Given the description of an element on the screen output the (x, y) to click on. 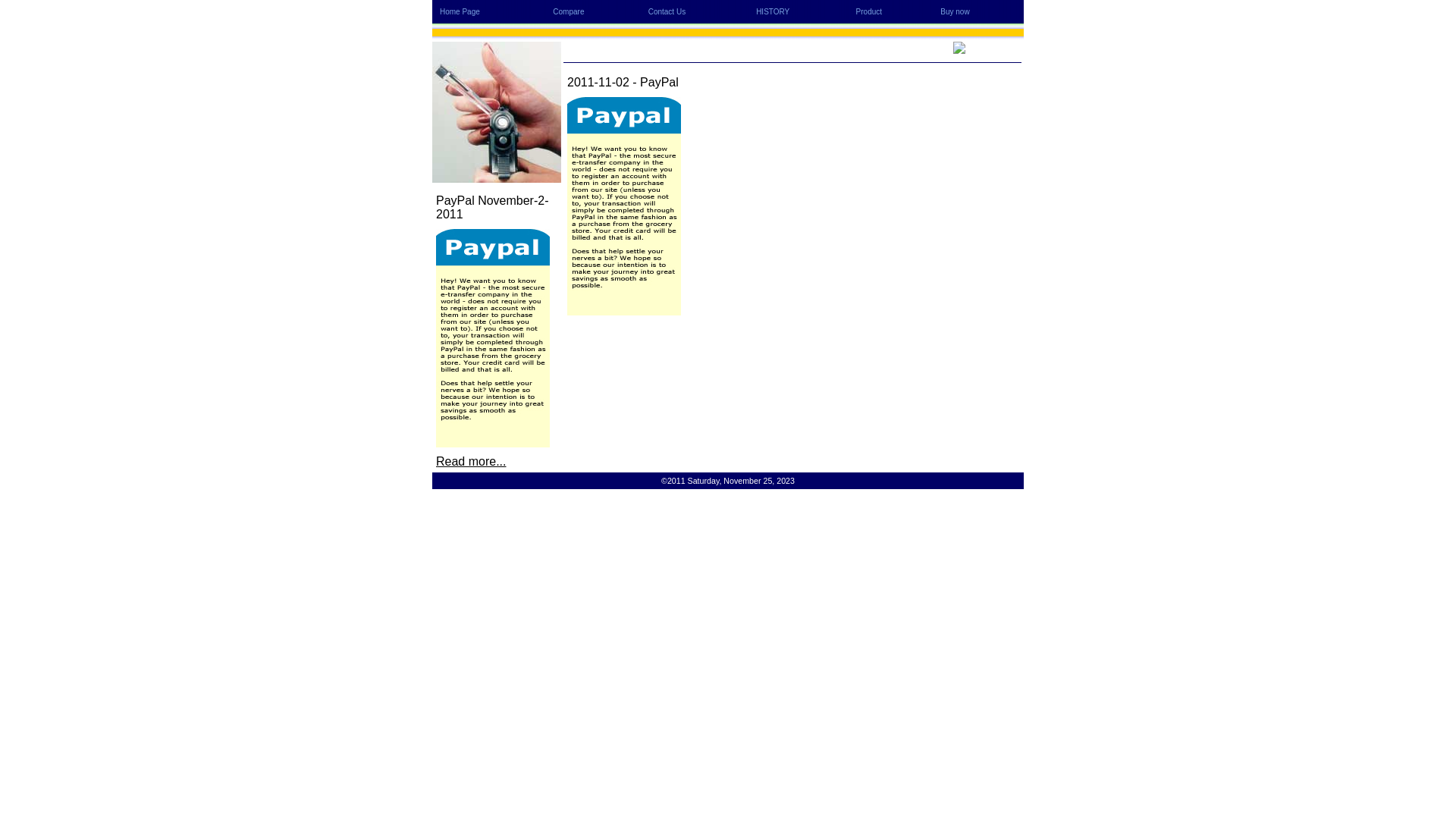
Product Element type: text (868, 11)
Compare Element type: text (567, 11)
Paypal.jpg Element type: hover (623, 206)
Read more... Element type: text (470, 461)
Home Page Element type: text (459, 11)
Contact Us Element type: text (666, 11)
Buy now Element type: text (954, 11)
Paypal.jpg Element type: hover (492, 338)
HISTORY Element type: text (772, 11)
